Given the description of an element on the screen output the (x, y) to click on. 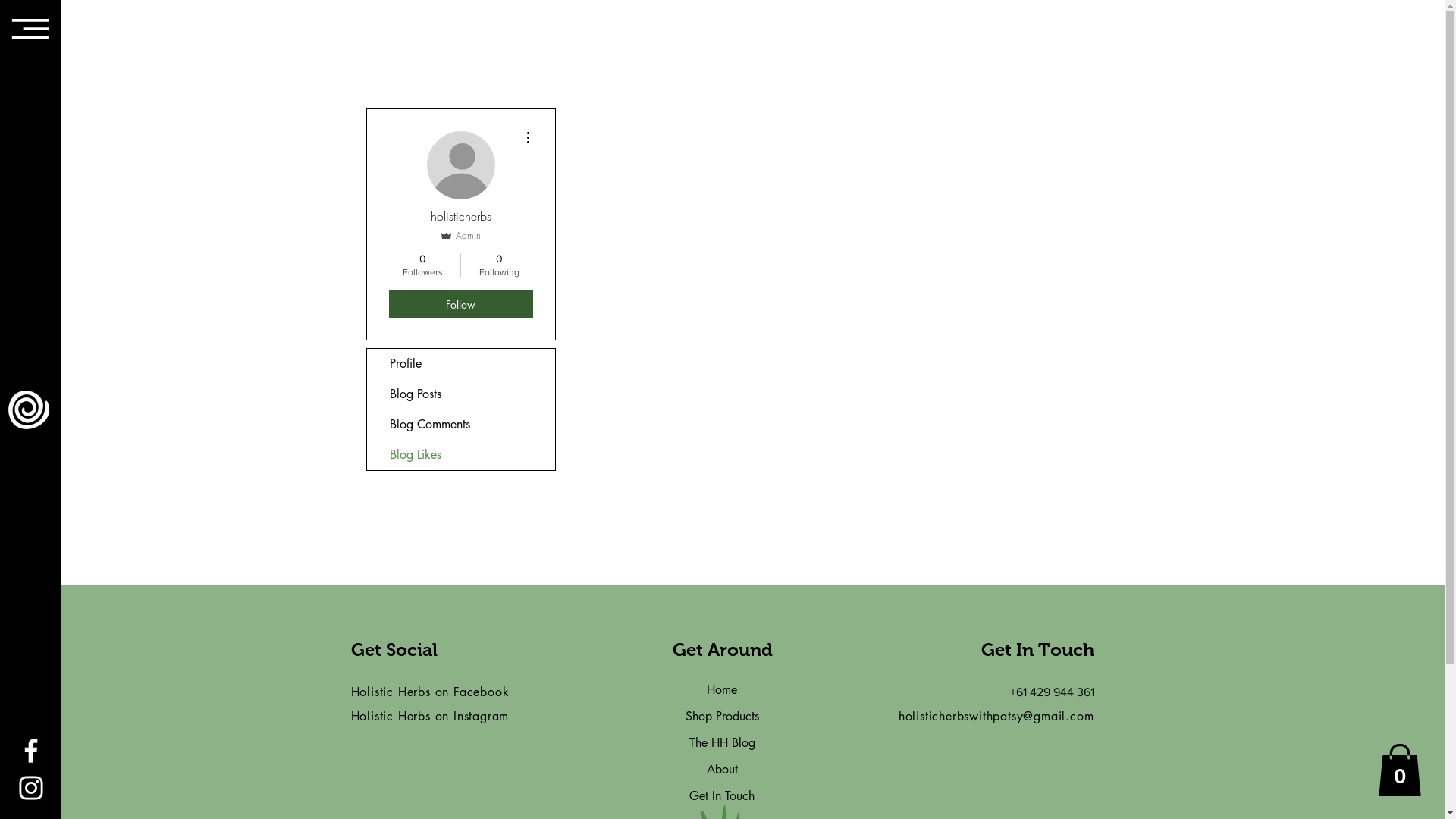
Shop Products Element type: text (721, 715)
About Element type: text (721, 769)
0
Followers Element type: text (421, 264)
Holistic Herbs on Instagram Element type: text (429, 715)
Blog Likes Element type: text (461, 454)
0
Following Element type: text (499, 264)
+61 429 944 361 Element type: text (1052, 691)
0 Element type: text (1399, 769)
Blog Comments Element type: text (461, 424)
Get In Touch Element type: text (721, 795)
Profile Element type: text (461, 363)
holisticherbswithpatsy@gmail.com Element type: text (996, 715)
Home Element type: text (721, 689)
Holistic Herbs on Facebook Element type: text (429, 691)
Logo White.png Element type: hover (28, 408)
Follow Element type: text (460, 303)
Blog Posts Element type: text (461, 394)
The HH Blog Element type: text (721, 742)
